Given the description of an element on the screen output the (x, y) to click on. 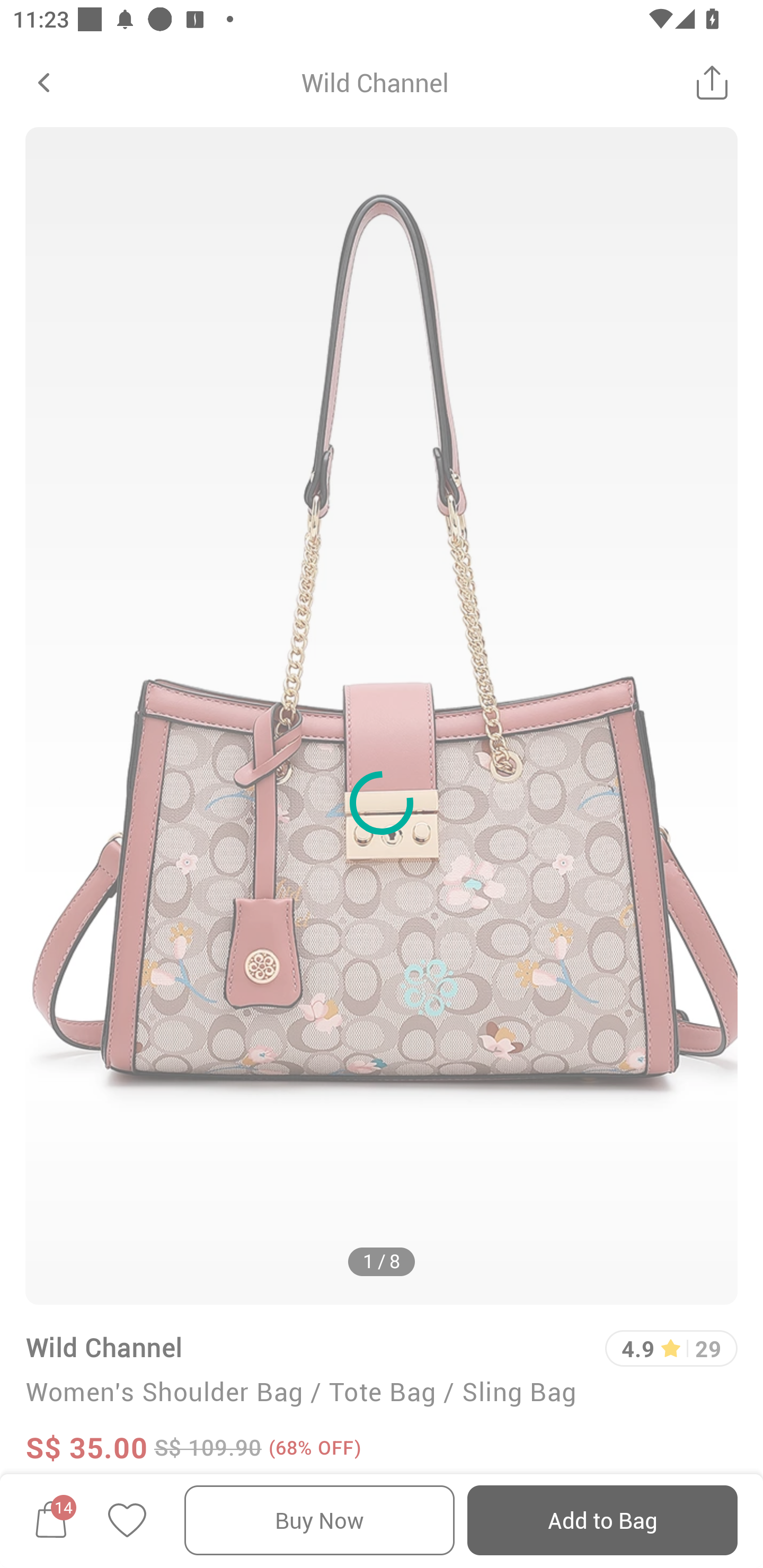
Wild Channel (375, 82)
Share this Product (711, 82)
Wild Channel (103, 1346)
4.9 29 (671, 1348)
Buy Now (319, 1519)
Add to Bag (601, 1519)
14 (50, 1520)
